Given the description of an element on the screen output the (x, y) to click on. 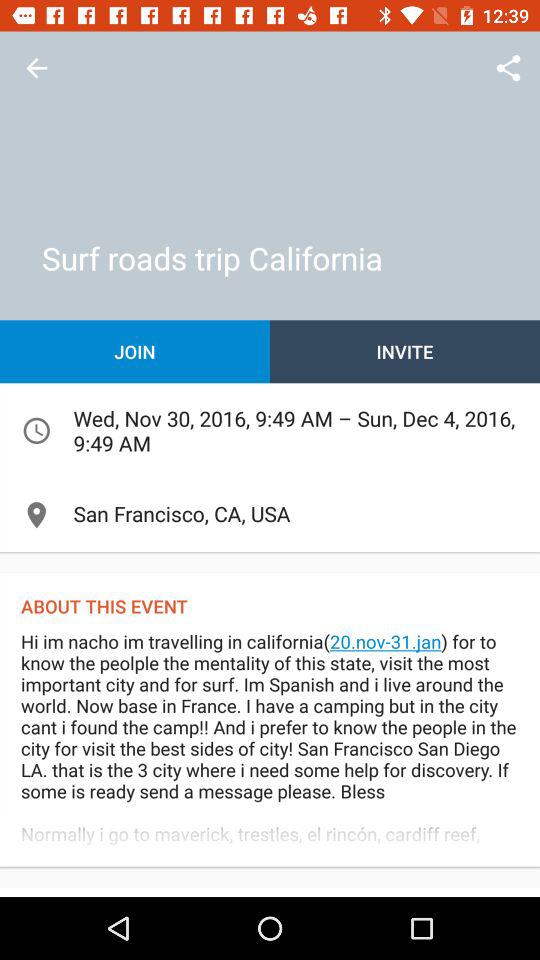
swipe until join item (135, 351)
